Given the description of an element on the screen output the (x, y) to click on. 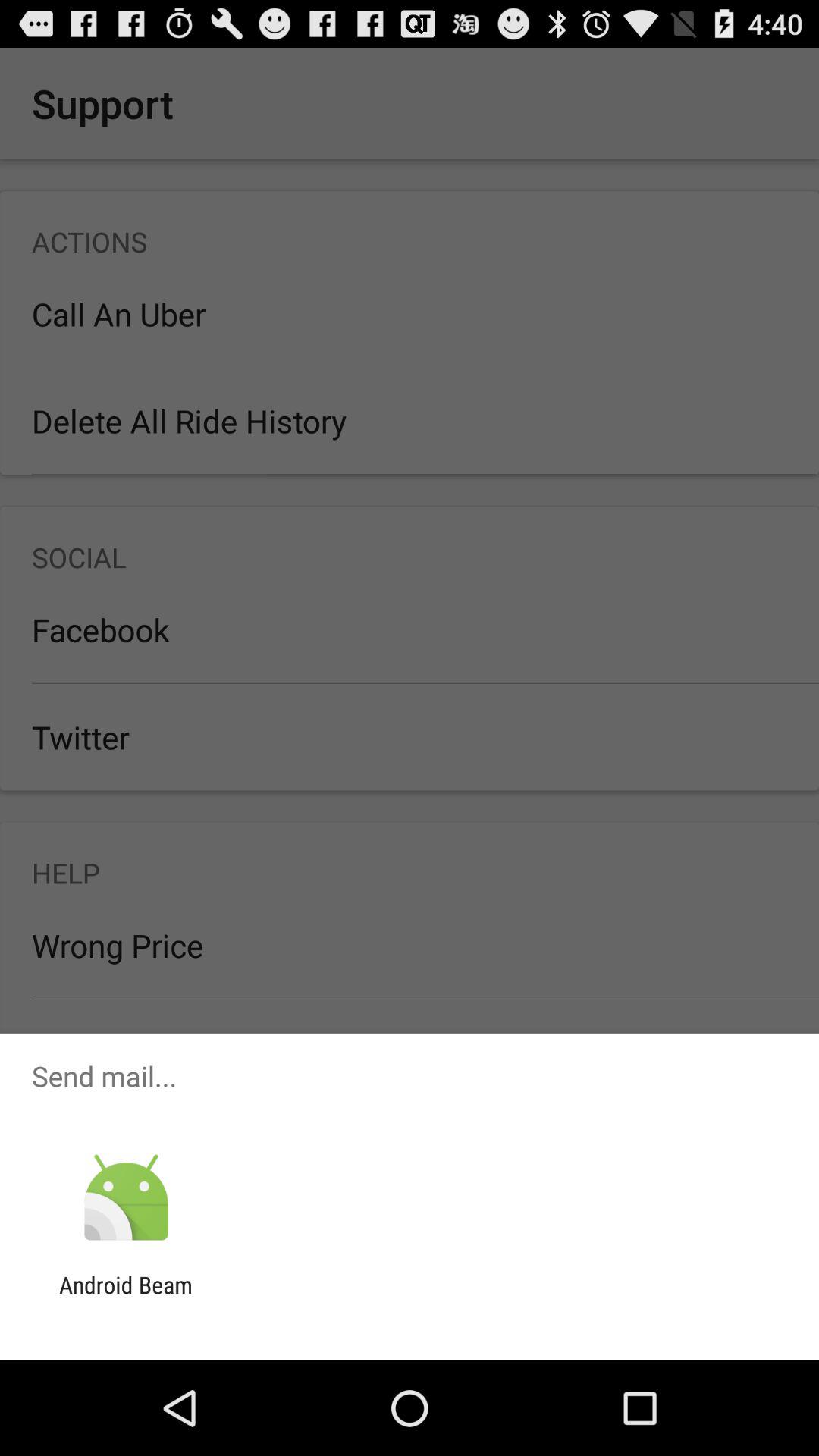
scroll until android beam app (125, 1298)
